Given the description of an element on the screen output the (x, y) to click on. 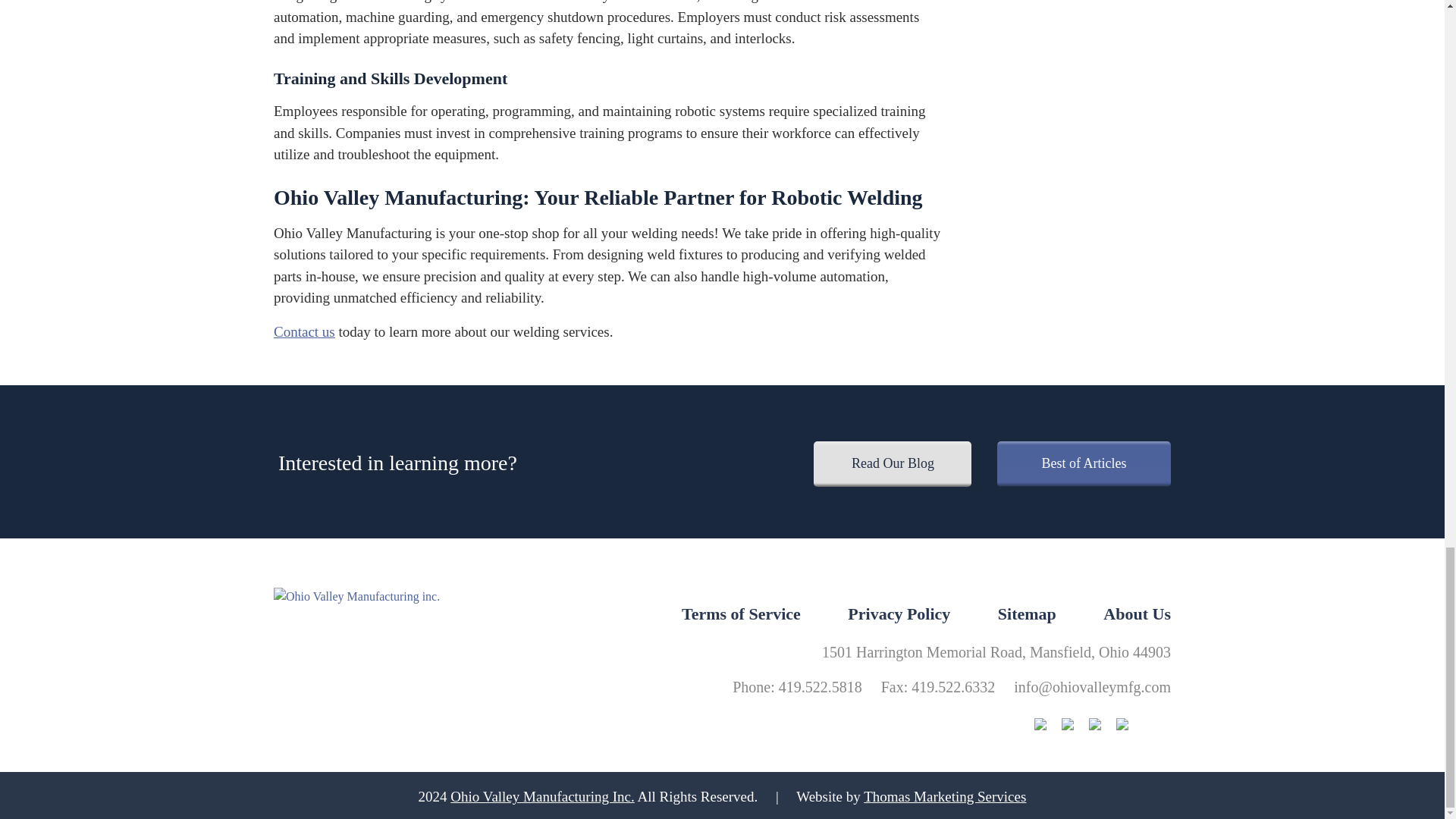
Facebook (1075, 725)
LinkedIn (1102, 725)
Instagram (1047, 725)
YouTube (1129, 725)
